Given the description of an element on the screen output the (x, y) to click on. 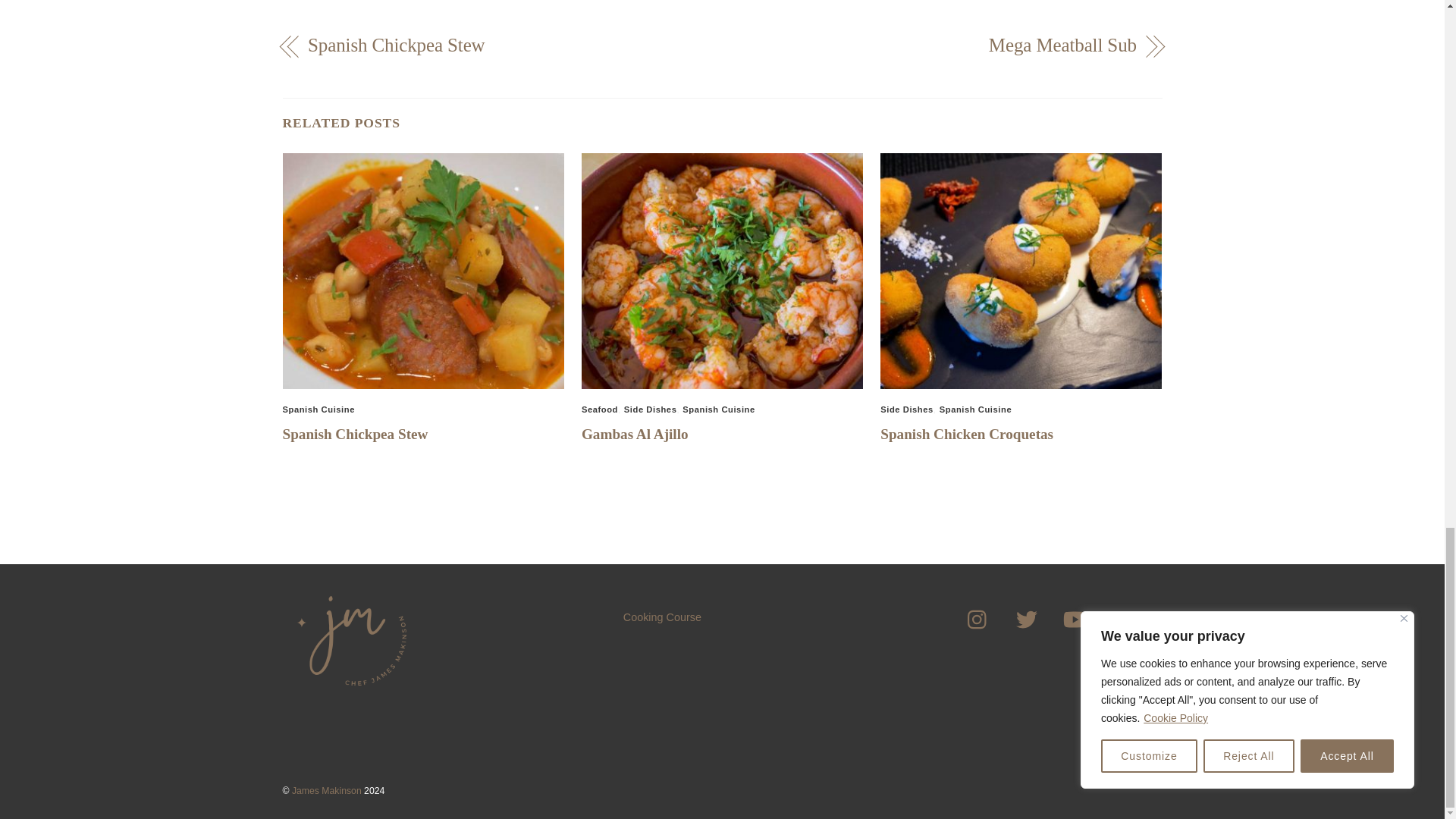
Spanish Chickpea Stew (355, 433)
Side Dishes (906, 409)
gambas (721, 271)
P1077515-1 (1020, 271)
Mega Meatball Sub (942, 45)
Spanish Cuisine (718, 409)
Logotipo-James-3-2 (348, 631)
James Makinson (348, 689)
ChickpeaStew (422, 271)
Spanish Chickpea Stew (501, 45)
